Given the description of an element on the screen output the (x, y) to click on. 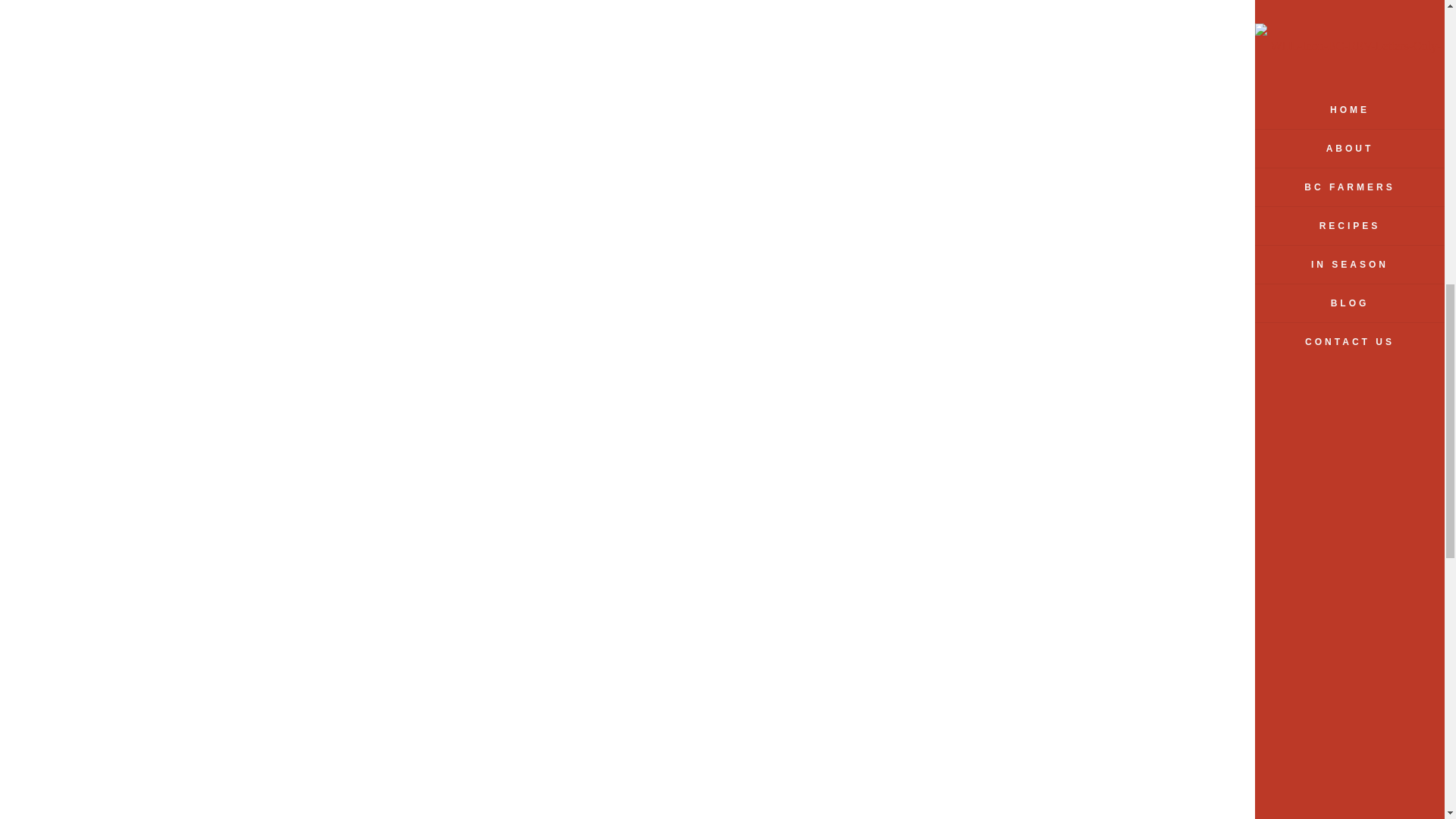
www.leppfarmmarket.com (1319, 607)
